Given the description of an element on the screen output the (x, y) to click on. 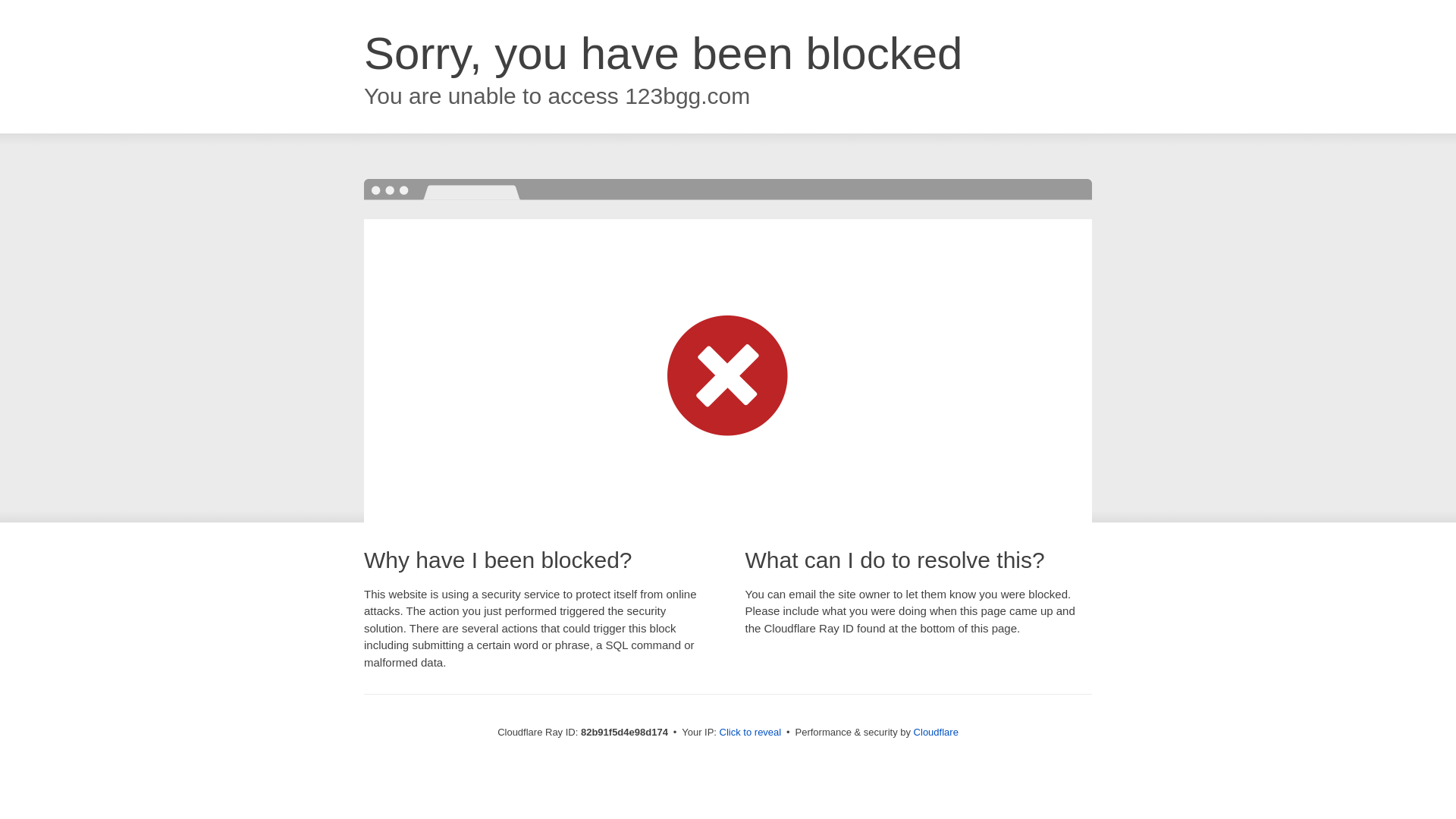
Cloudflare Element type: text (935, 731)
Click to reveal Element type: text (750, 732)
